Given the description of an element on the screen output the (x, y) to click on. 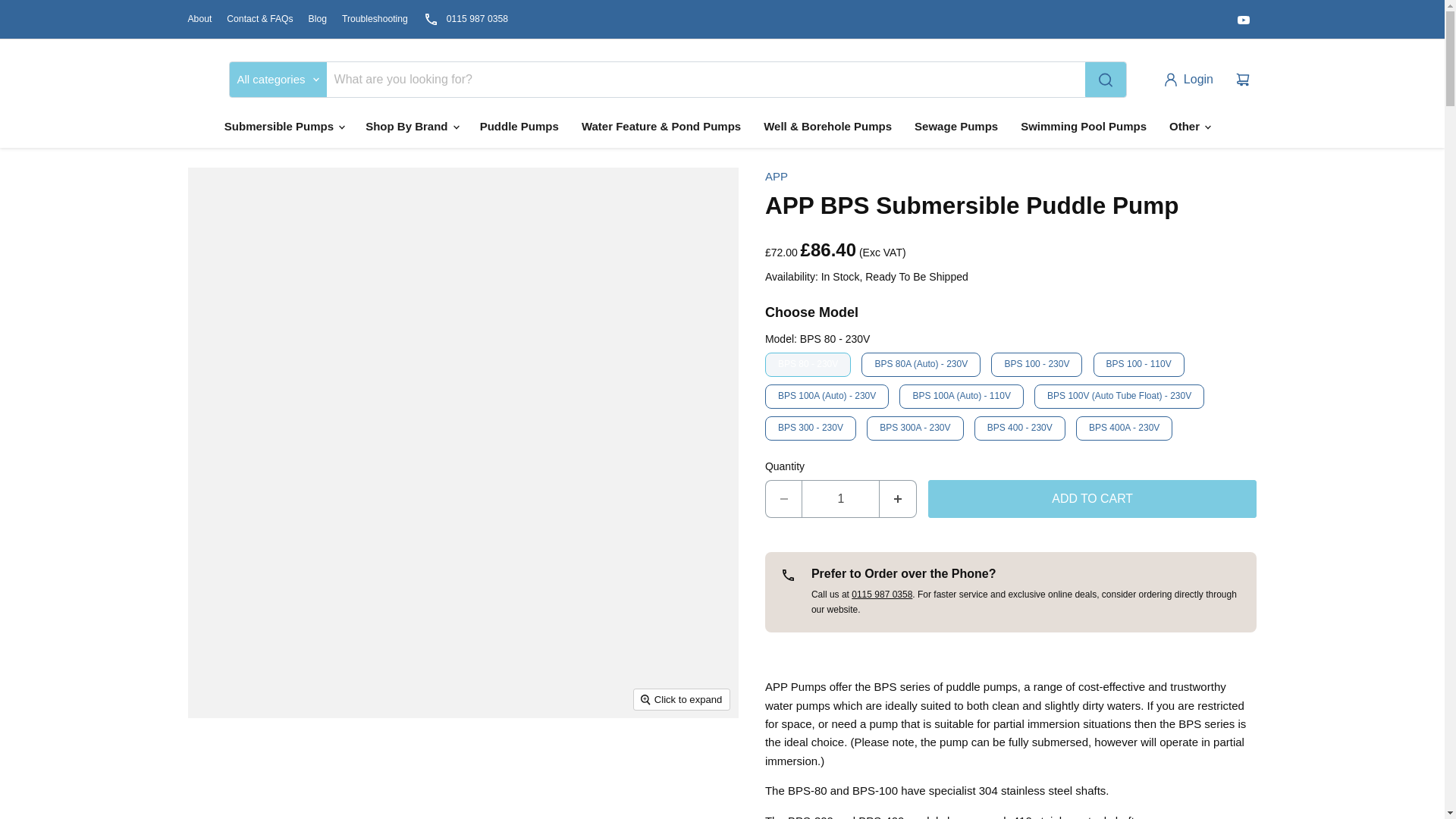
Puddle Pumps (519, 125)
Login (1190, 79)
View cart (1242, 79)
APP (776, 175)
About (199, 18)
Swimming Pool Pumps (1083, 125)
Troubleshooting (374, 18)
Sewage Pumps (955, 125)
Find us on YouTube (1243, 19)
YouTube (1243, 19)
